Given the description of an element on the screen output the (x, y) to click on. 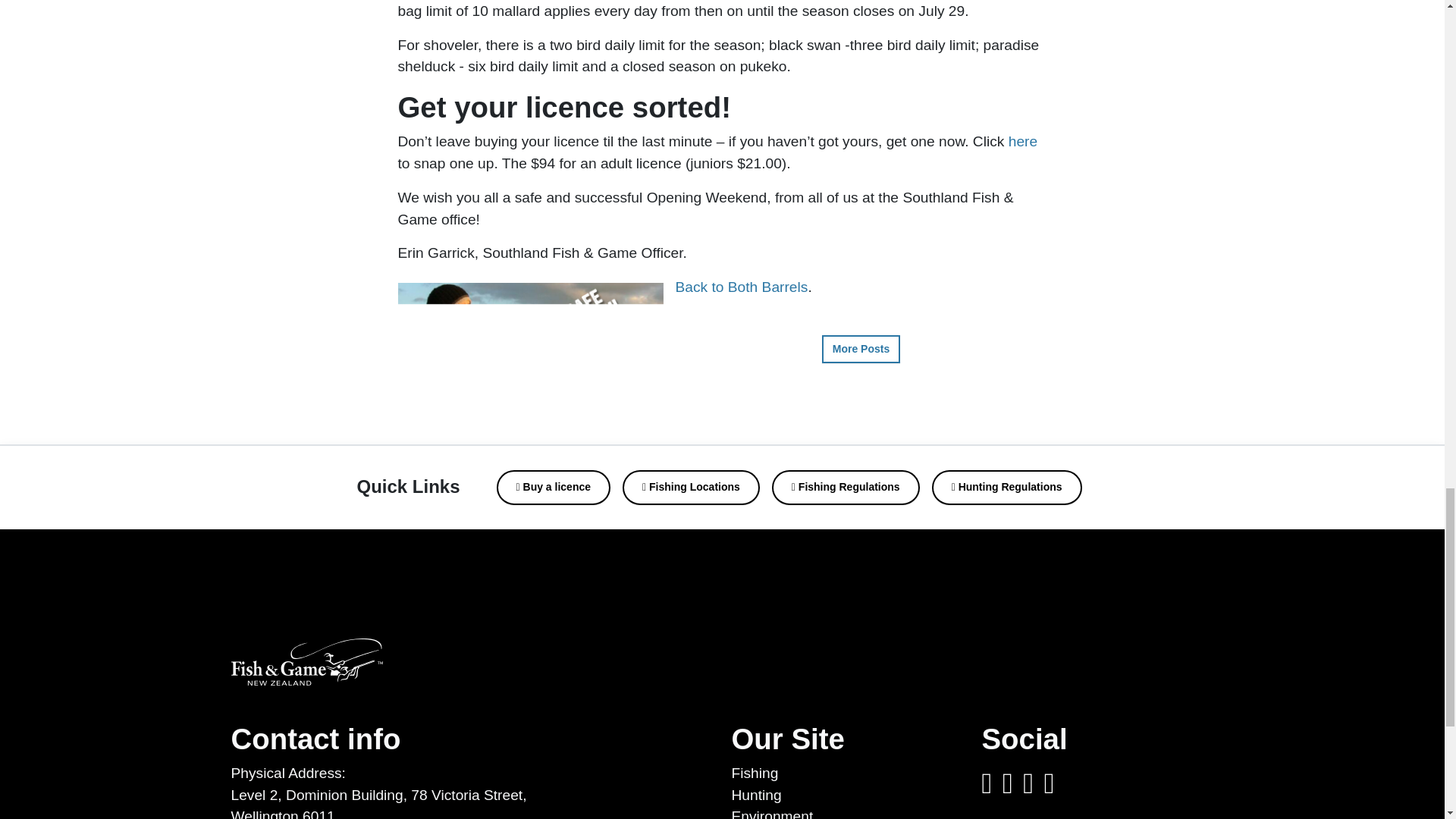
More Posts (860, 348)
Hunting (755, 795)
Fishing Regulations (845, 487)
Environment (771, 813)
Fishing Locations (691, 487)
Back to Both Barrels (741, 286)
here (1022, 141)
Fishing (753, 772)
Buy a licence (553, 487)
Hunting Regulations (1006, 487)
